Given the description of an element on the screen output the (x, y) to click on. 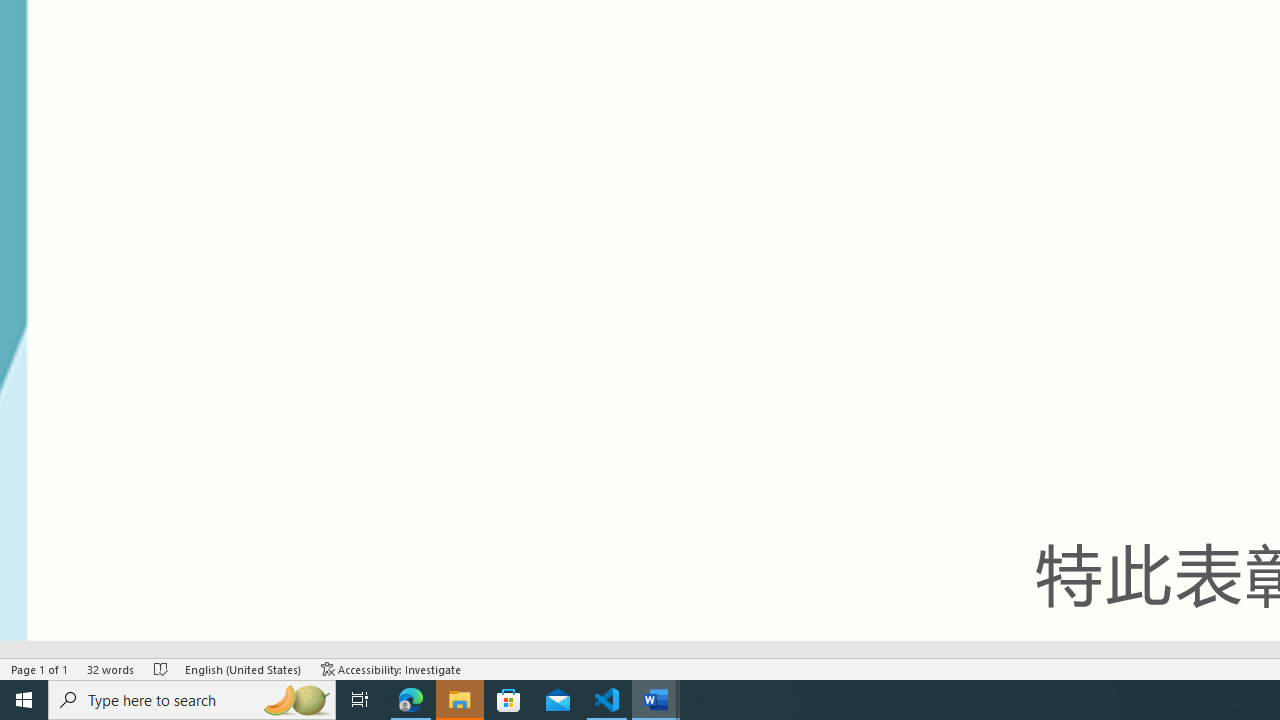
Type here to search (191, 699)
Page Number Page 1 of 1 (39, 668)
Accessibility Checker Accessibility: Investigate (391, 668)
File Explorer - 1 running window (460, 699)
Spelling and Grammar Check No Errors (161, 668)
Start (24, 699)
Word Count 32 words (111, 668)
Microsoft Edge - 1 running window (411, 699)
Task View (359, 699)
Search highlights icon opens search home window (295, 699)
Language English (United States) (243, 668)
Word - 2 running windows (656, 699)
Microsoft Store (509, 699)
Visual Studio Code - 1 running window (607, 699)
